Given the description of an element on the screen output the (x, y) to click on. 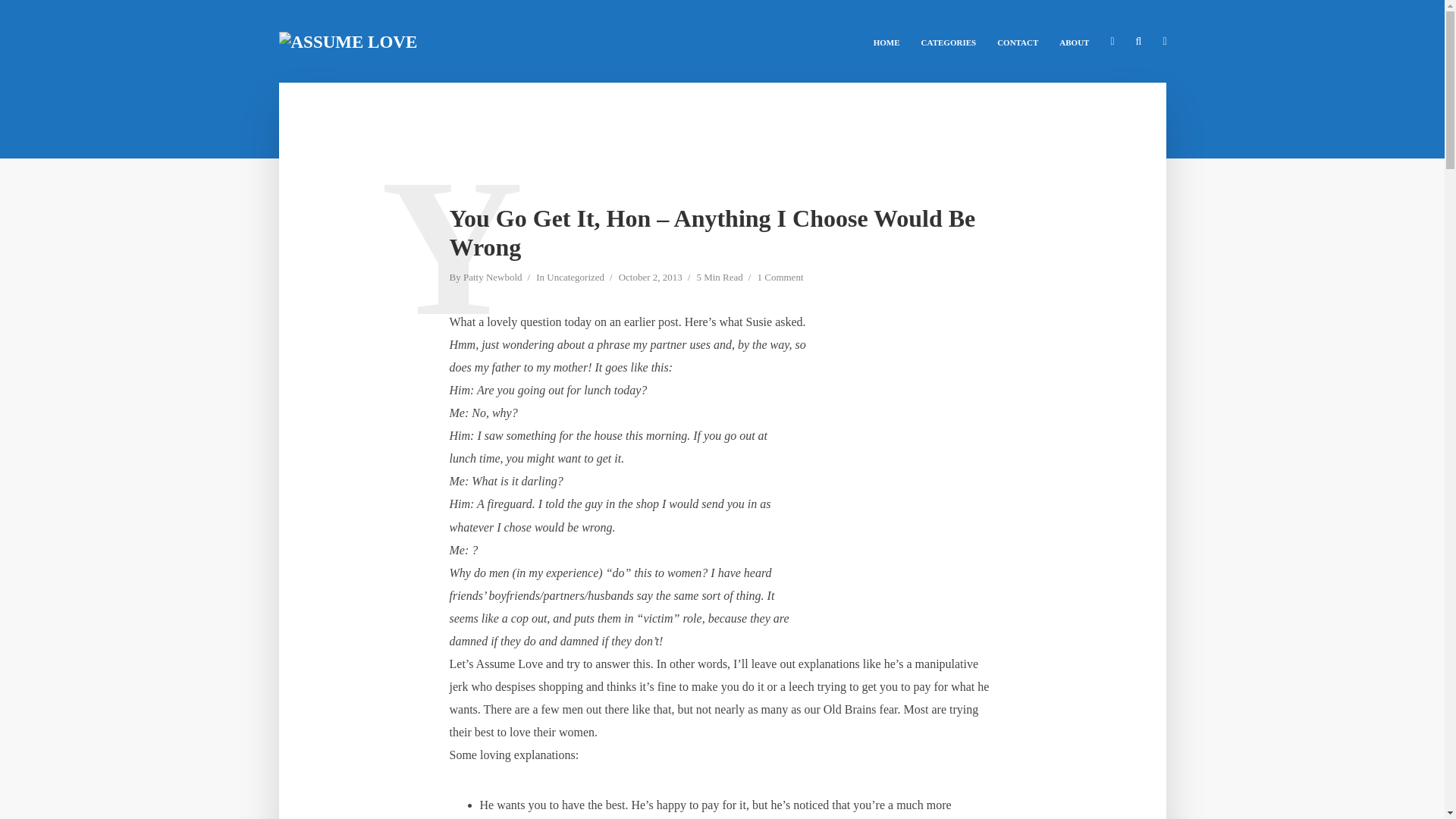
1 Comment (780, 278)
HOME (887, 41)
Patty Newbold (492, 278)
ABOUT (1073, 41)
CONTACT (1017, 41)
CATEGORIES (949, 41)
Uncategorized (575, 278)
